Given the description of an element on the screen output the (x, y) to click on. 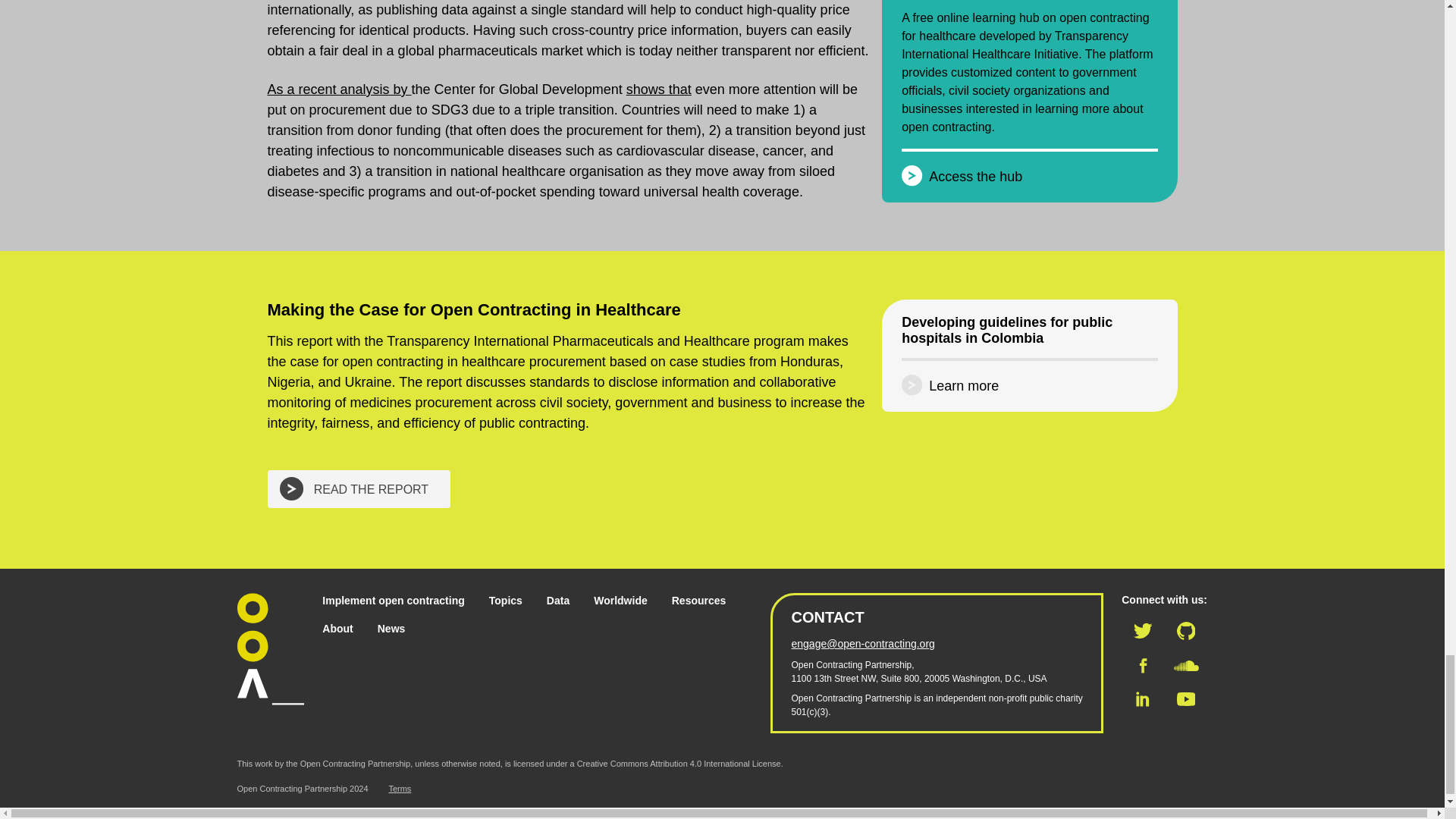
Connect on Facebook (1142, 665)
Connect on LinkedIn (1142, 699)
Connect on Github (1186, 630)
Connect on Twitter (1142, 630)
Connect on YouTube (1186, 699)
Connect on Soundcloud (1186, 665)
